Given the description of an element on the screen output the (x, y) to click on. 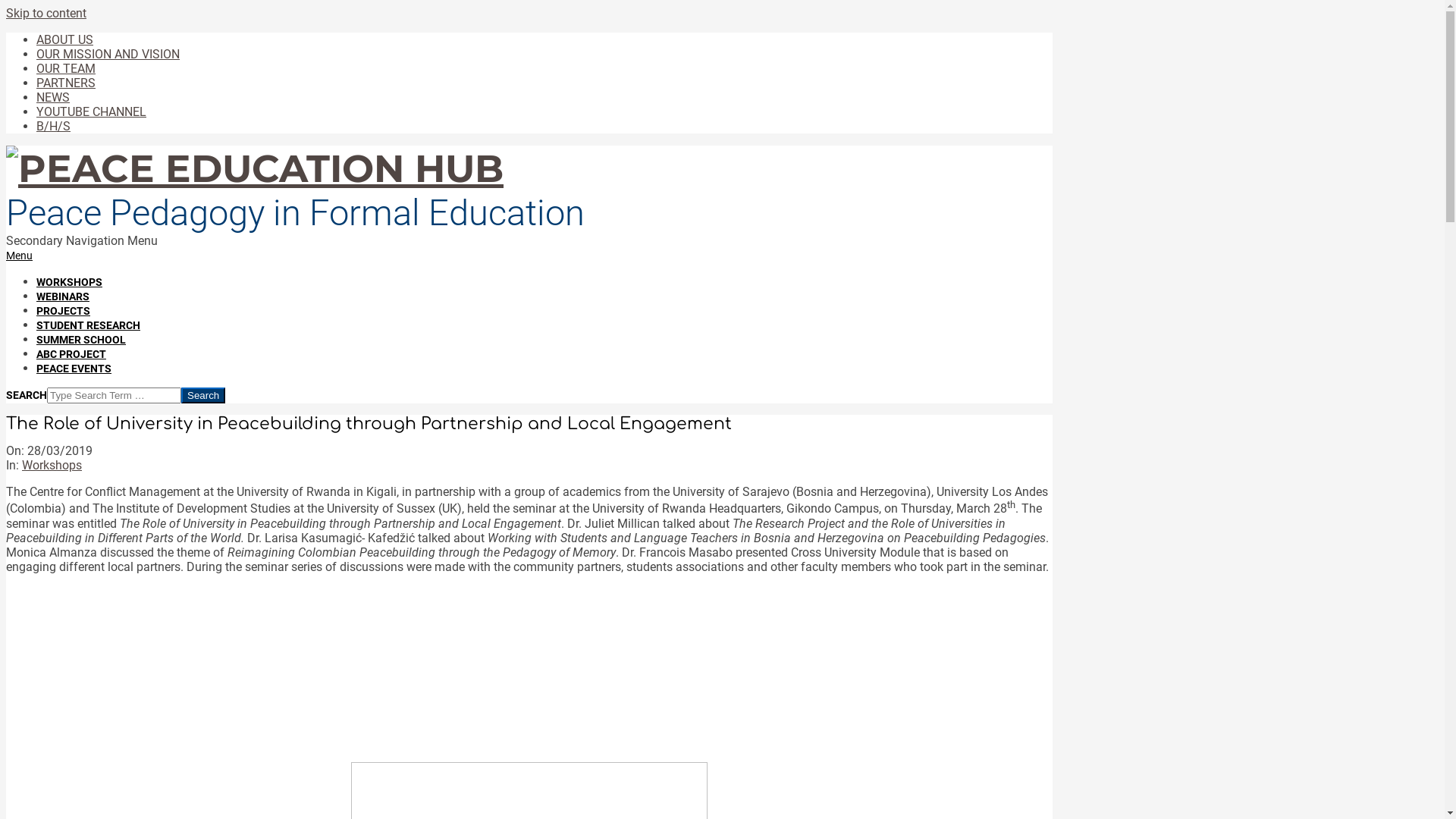
ABC PROJECT Element type: text (71, 354)
ABOUT US Element type: text (64, 39)
PROJECTS Element type: text (63, 310)
WORKSHOPS Element type: text (69, 282)
Skip to content Element type: text (46, 13)
SUMMER SCHOOL Element type: text (80, 339)
OUR TEAM Element type: text (65, 68)
YOUTUBE CHANNEL Element type: text (91, 111)
Workshops Element type: text (51, 465)
OUR MISSION AND VISION Element type: text (107, 54)
PARTNERS Element type: text (65, 82)
WEBINARS Element type: text (62, 296)
Menu Element type: text (19, 255)
PEACE EVENTS Element type: text (73, 368)
STUDENT RESEARCH Element type: text (88, 325)
NEWS Element type: text (52, 97)
Search Element type: text (203, 395)
B/H/S Element type: text (53, 126)
